Given the description of an element on the screen output the (x, y) to click on. 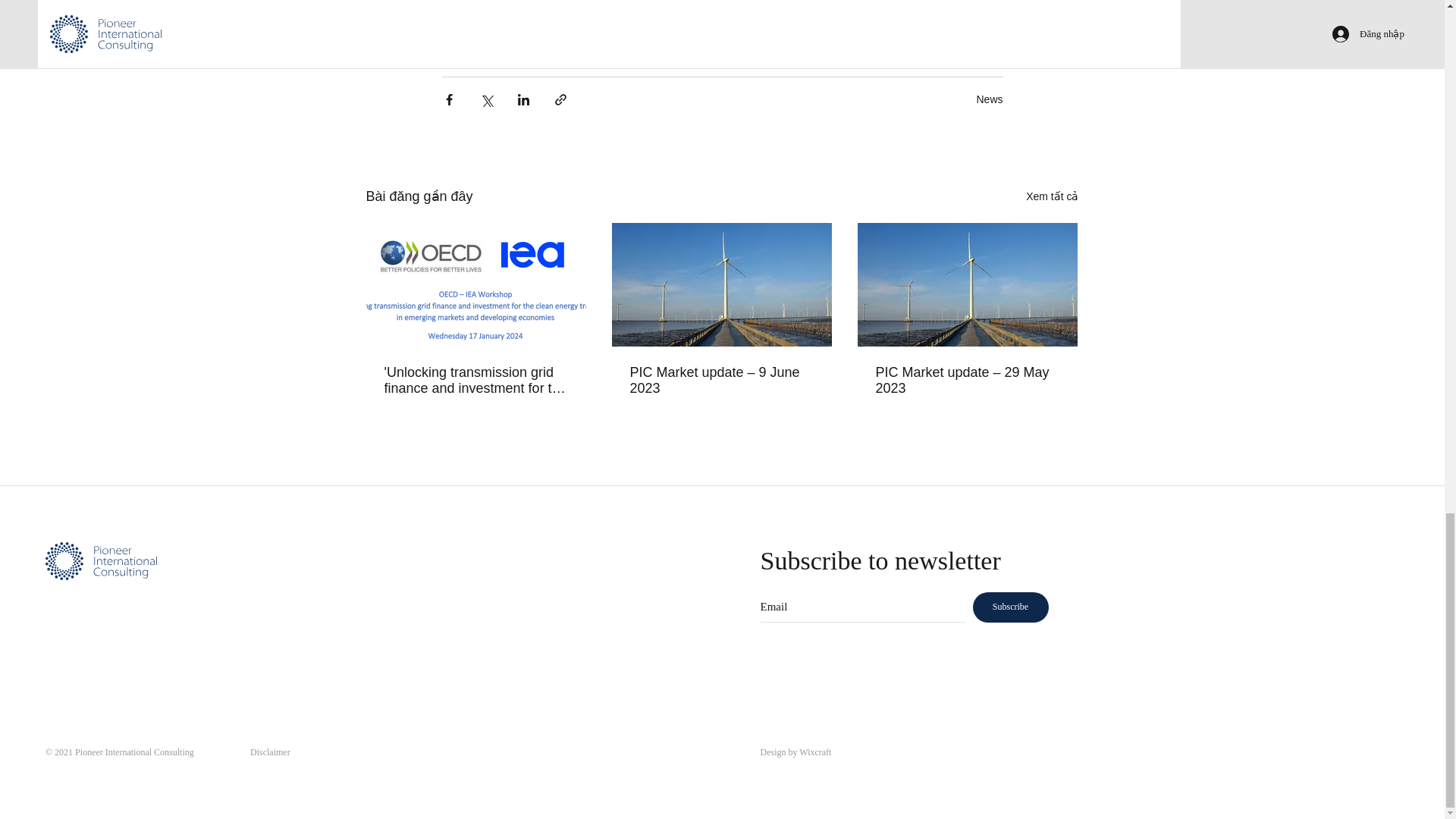
Disclaimer (269, 751)
Design by Wixcraft (795, 751)
Subscribe (1010, 607)
News (989, 99)
